Given the description of an element on the screen output the (x, y) to click on. 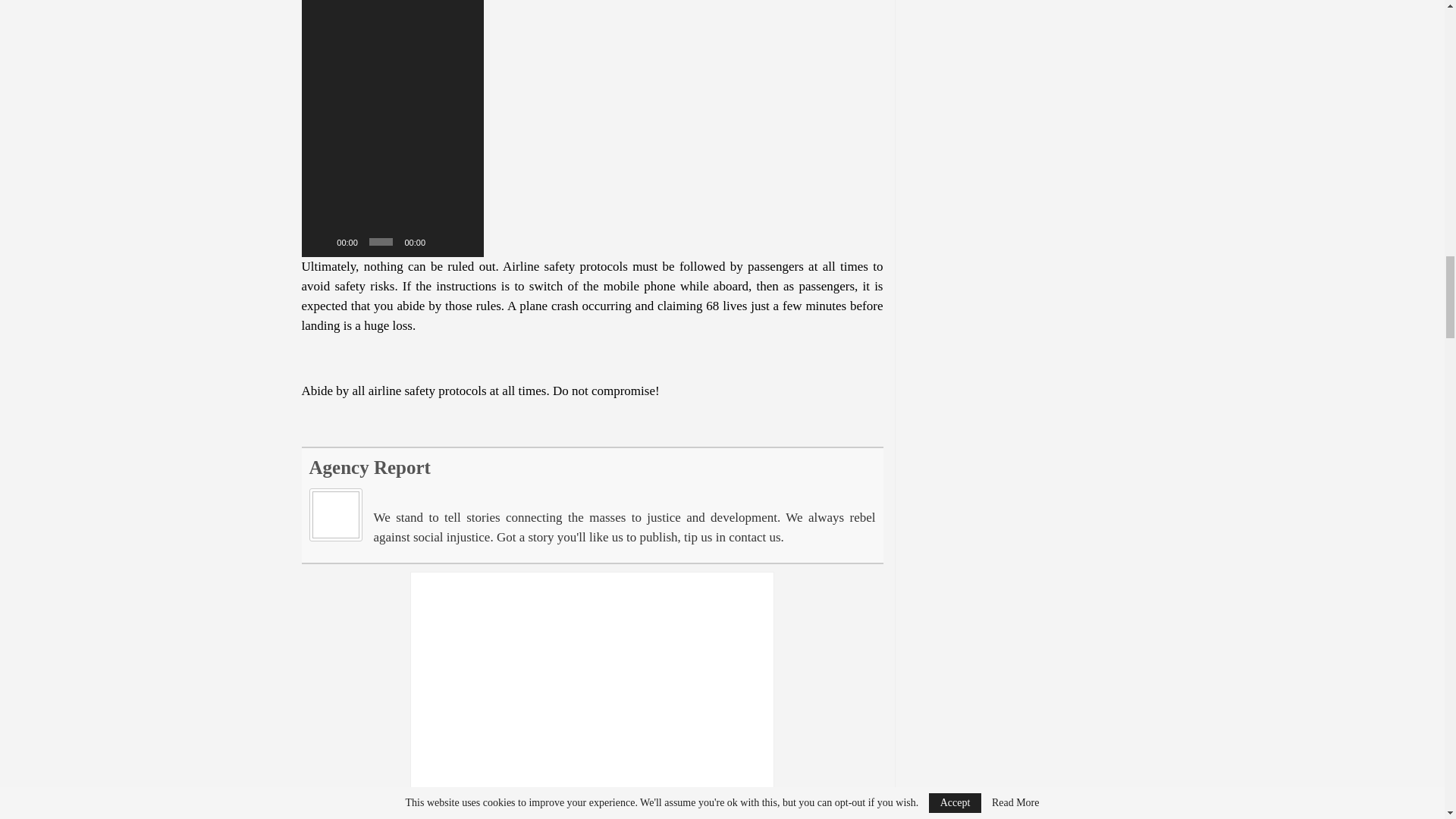
Play (321, 241)
All posts by Agency Report (369, 467)
Fullscreen (464, 241)
Mute (440, 241)
